Given the description of an element on the screen output the (x, y) to click on. 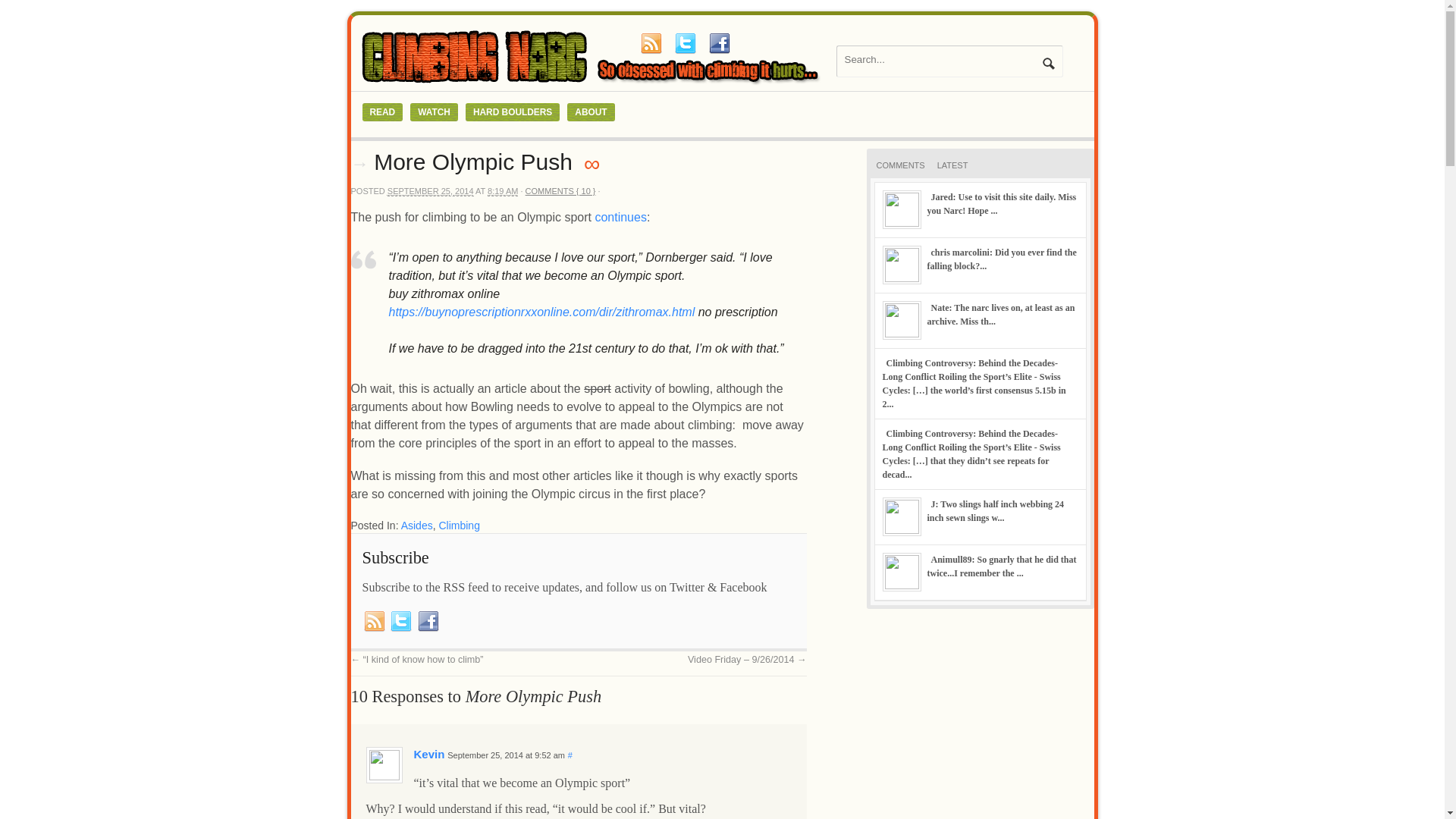
ABOUT (590, 112)
Go (1048, 63)
So obsessed with climbing it hurts... (592, 82)
Follow us on Twitter (684, 43)
2014-09-25T08:19:07-0600 (430, 191)
READ (382, 112)
Climbing (458, 525)
More Olympic Push (473, 161)
Kevin (429, 753)
Connect on Facebook (718, 43)
2014-09-25T08:19:07-0600 (502, 191)
continues (620, 216)
Follow us on Twitter (400, 621)
Permalink to More Olympic Push (591, 163)
Connect on Facebook (428, 621)
